Given the description of an element on the screen output the (x, y) to click on. 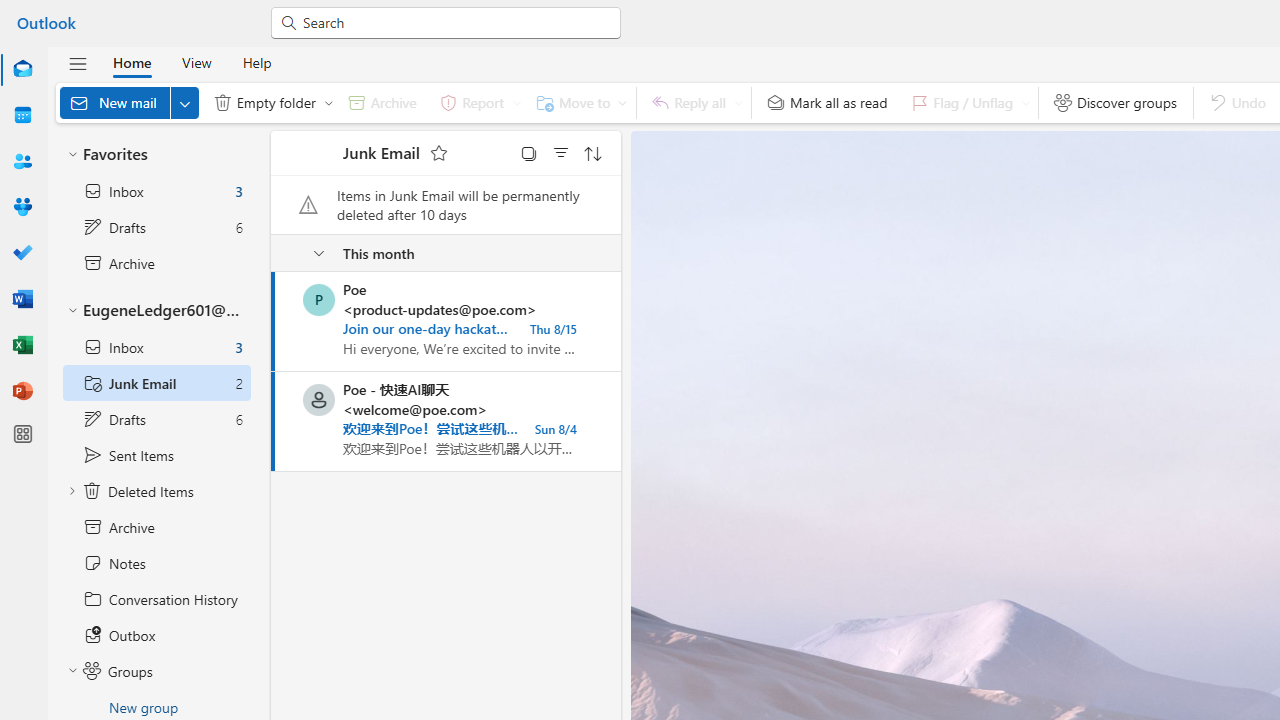
Expand to see more New options (184, 102)
Expand to see more respond options (738, 102)
Filter (561, 152)
Conversation History (156, 599)
Drafts 6 items (156, 419)
Groups (156, 671)
Sent Items (156, 455)
EugeneLedger601@outlook.com (156, 311)
Groups (22, 207)
Mail (22, 69)
Help (256, 61)
Search for email, meetings, files and more. (454, 21)
View (196, 61)
Favorites (156, 154)
